Given the description of an element on the screen output the (x, y) to click on. 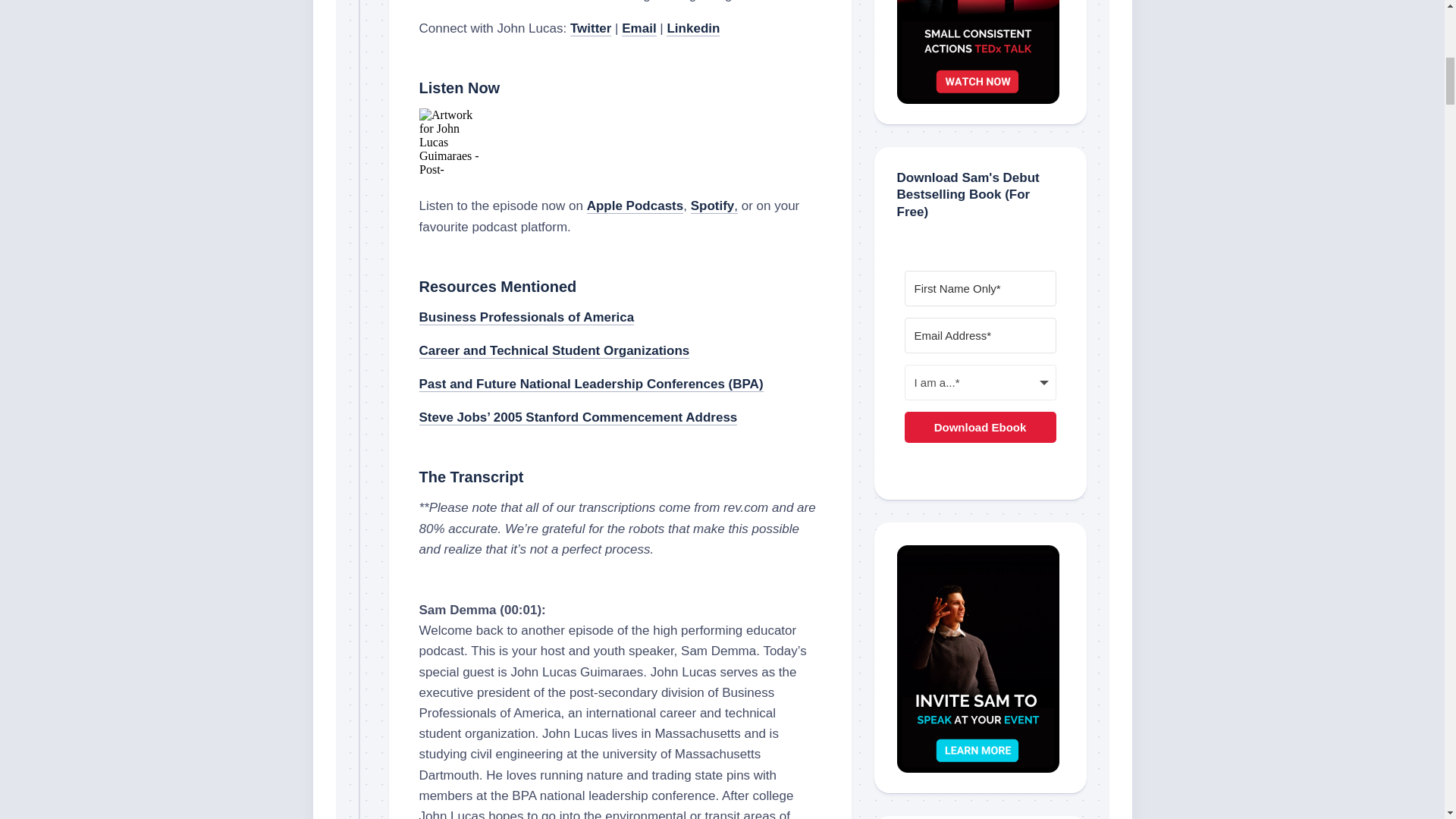
Apple Podcasts (635, 205)
Libsyn Player (620, 142)
Linkedin (692, 28)
Business Professionals of America (526, 317)
Twitter (590, 28)
Career and Technical Student Organizations (553, 350)
Email (638, 28)
Spotify (712, 205)
